Given the description of an element on the screen output the (x, y) to click on. 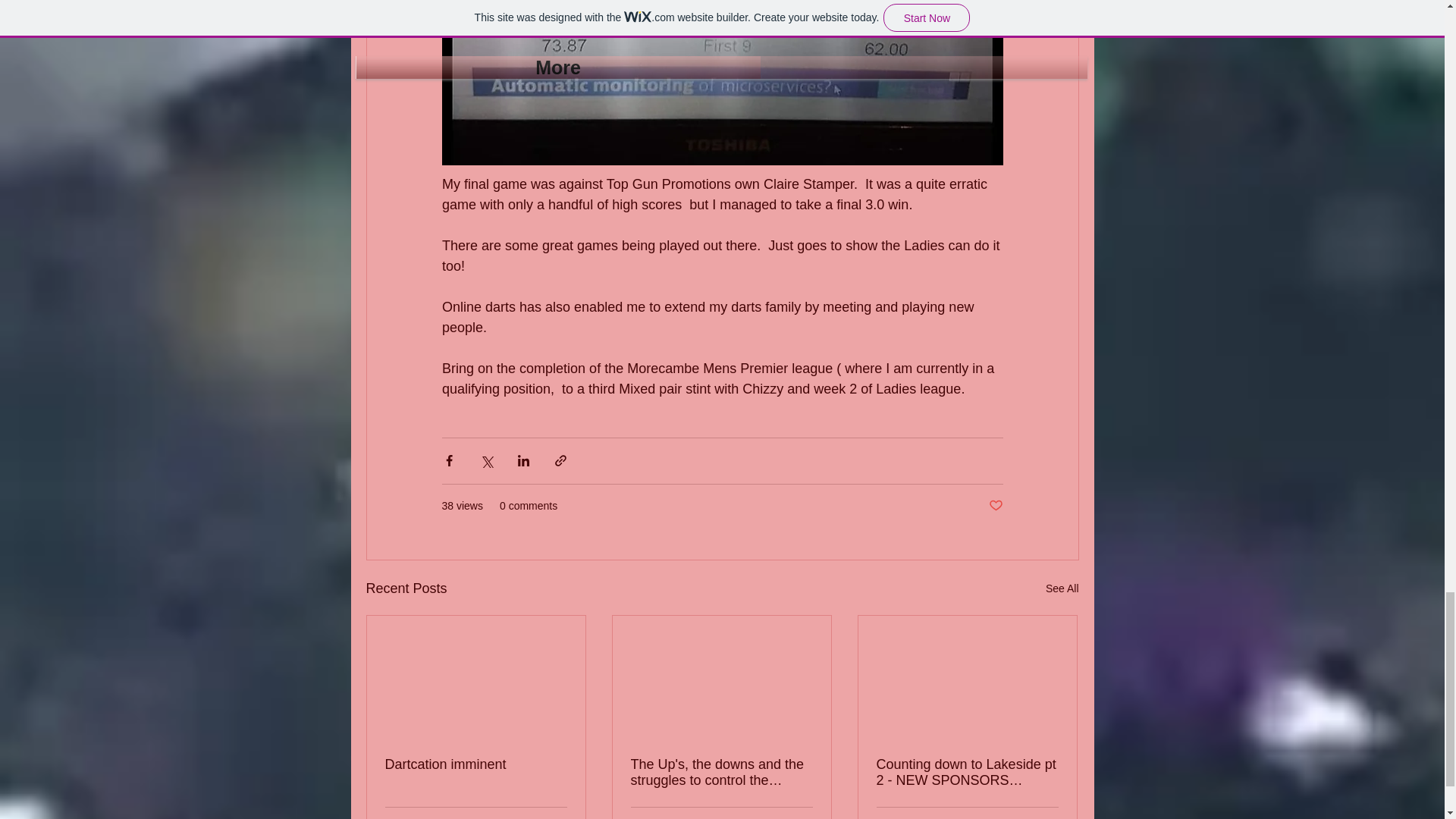
Dartcation imminent (476, 764)
See All (1061, 588)
